Given the description of an element on the screen output the (x, y) to click on. 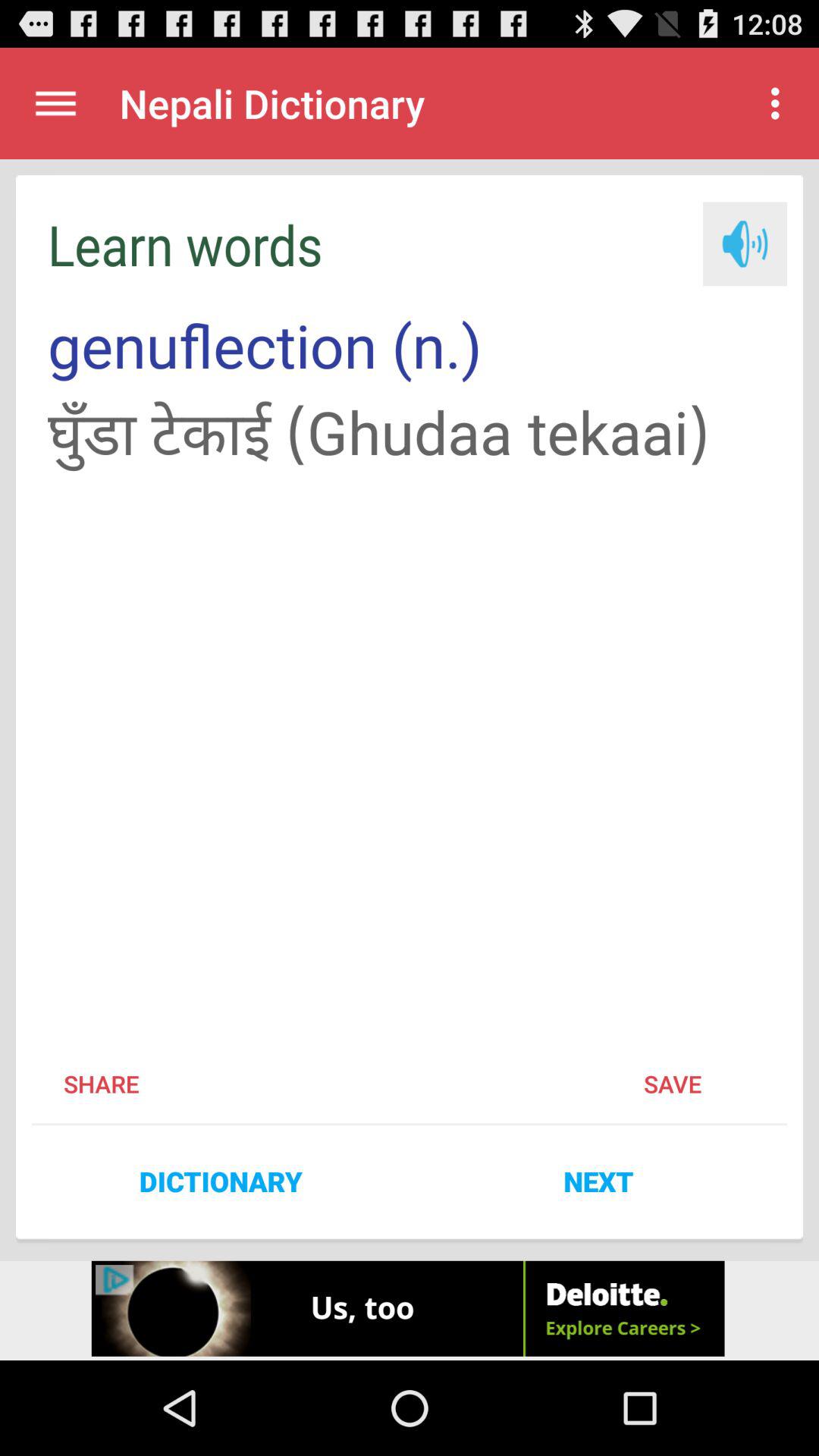
imge (744, 243)
